Given the description of an element on the screen output the (x, y) to click on. 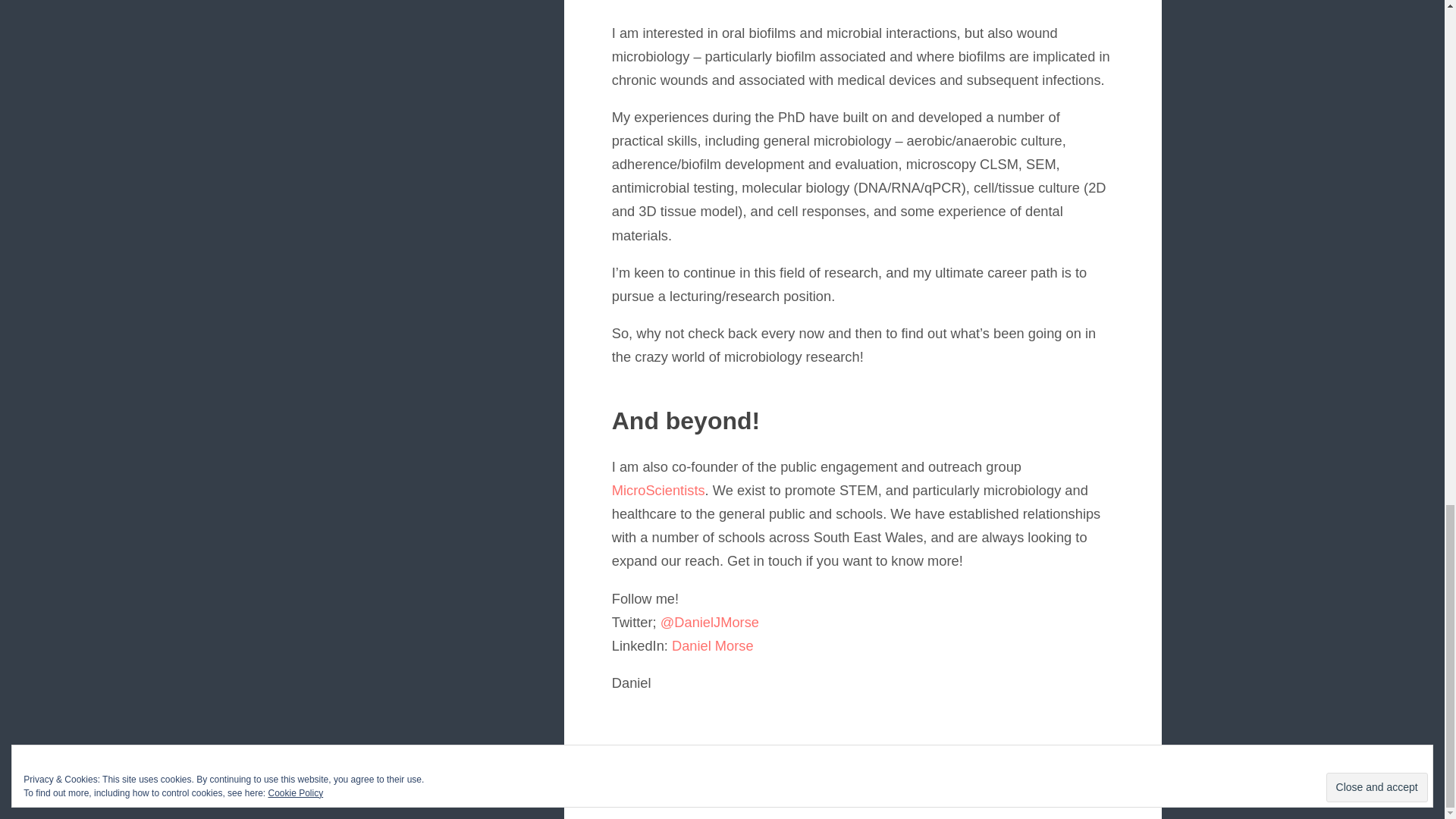
DR DANIEL MORSE (701, 780)
MicroScientists (657, 489)
Daniel Morse (712, 645)
